Given the description of an element on the screen output the (x, y) to click on. 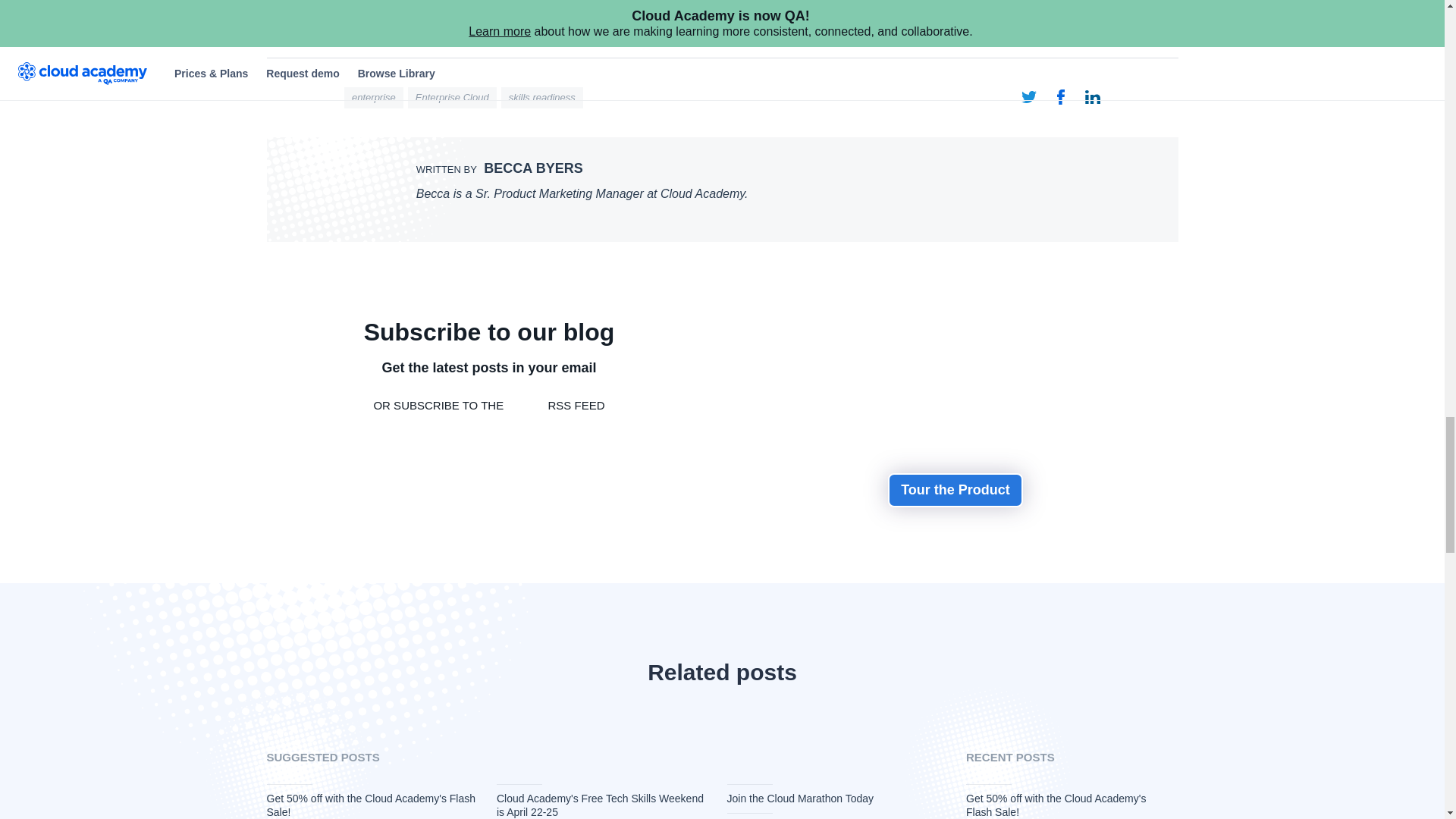
OR SUBSCRIBE TO THE RSS FEED (488, 404)
Tour the Product (955, 489)
Becca Byers (721, 189)
